Given the description of an element on the screen output the (x, y) to click on. 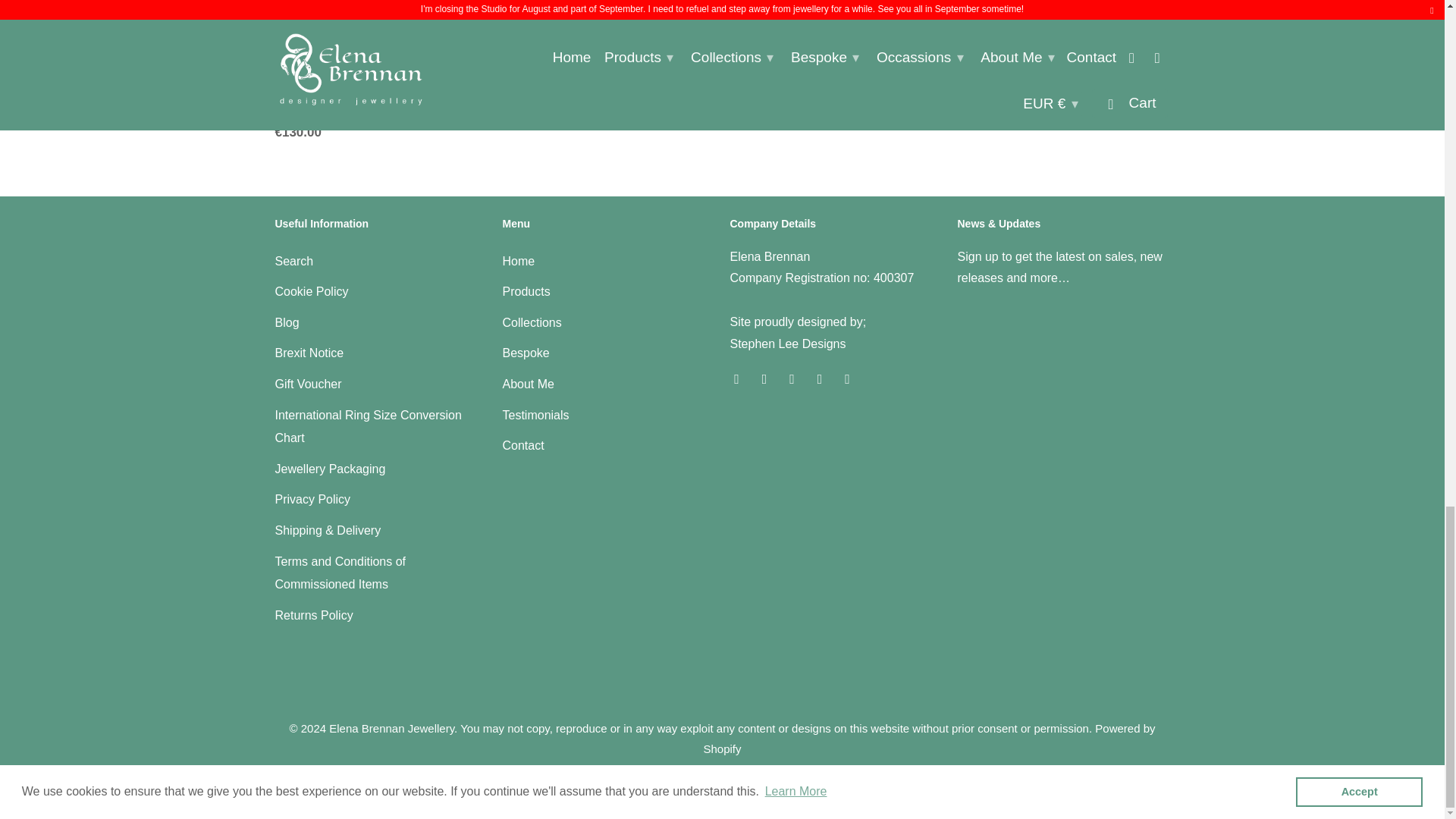
Google Pay (636, 781)
Union Pay (849, 781)
Apple Pay (594, 781)
American Express (552, 781)
Shop Pay (807, 781)
Maestro (678, 781)
Visa (892, 781)
PayPal (764, 781)
Mastercard (721, 781)
